Given the description of an element on the screen output the (x, y) to click on. 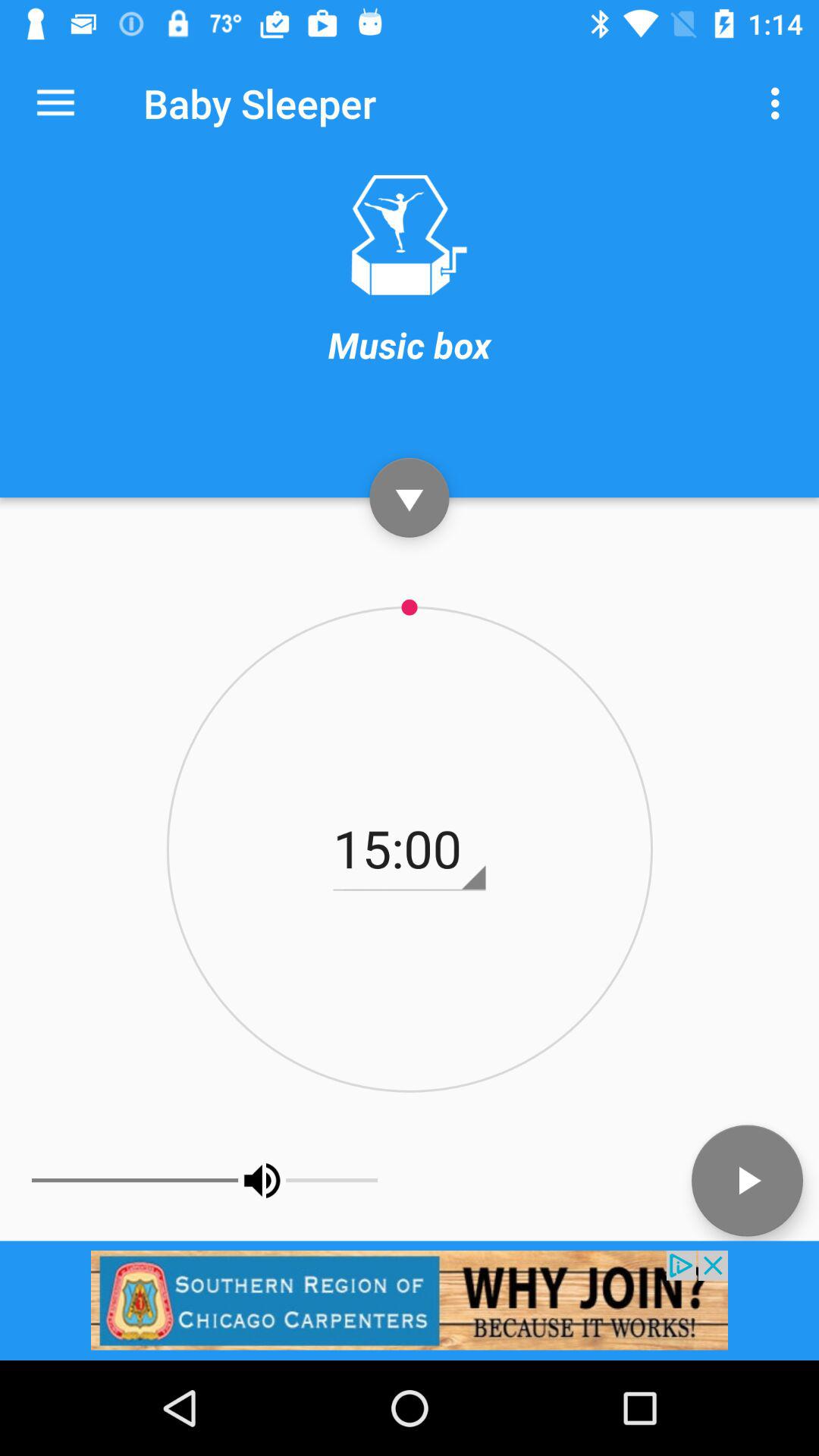
select sleeping music (409, 235)
